Given the description of an element on the screen output the (x, y) to click on. 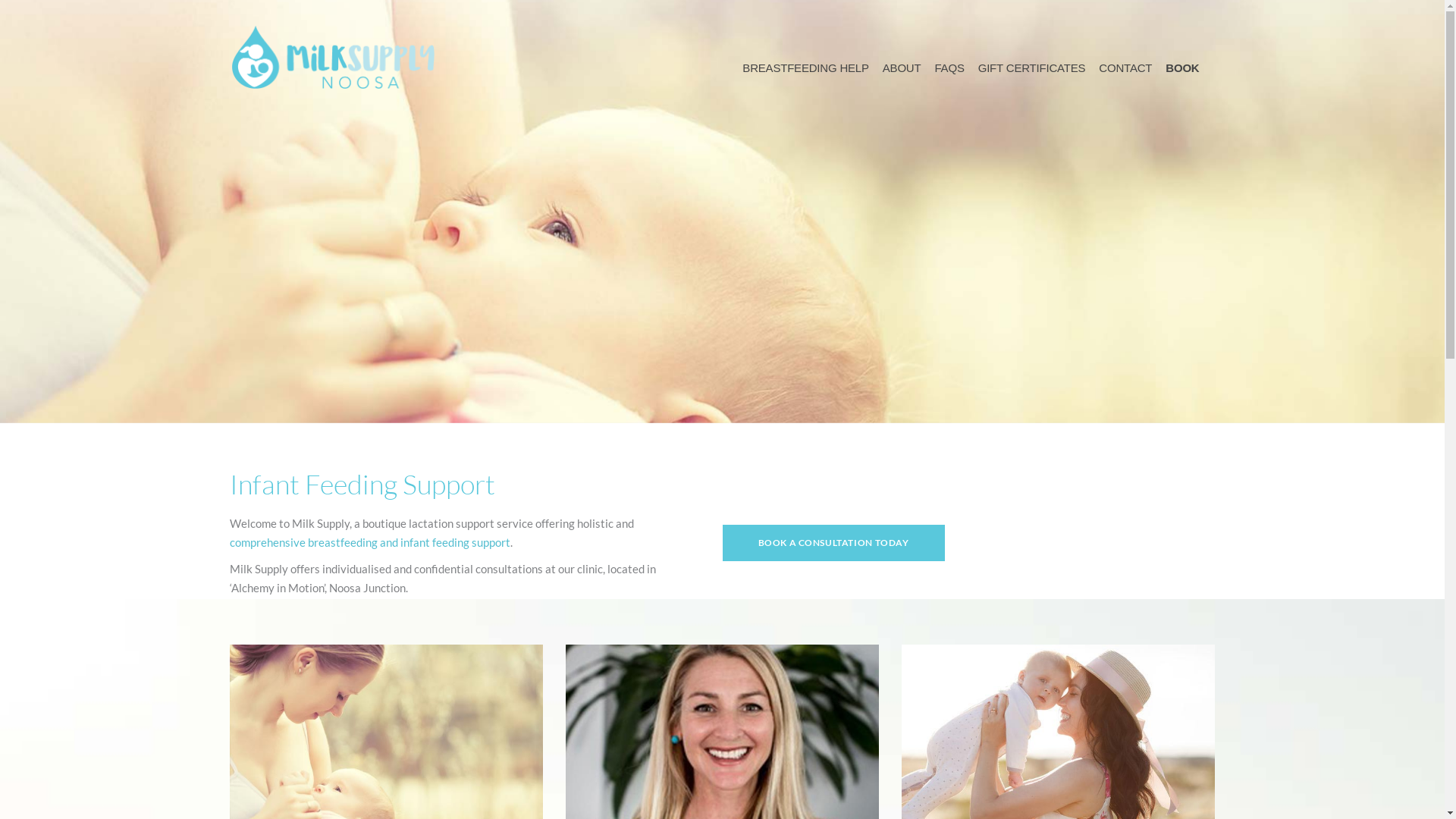
BREASTFEEDING HELP Element type: text (805, 68)
CONTACT Element type: text (1125, 68)
FAQS Element type: text (948, 68)
BOOK A CONSULTATION TODAY Element type: text (832, 542)
BOOK Element type: text (1181, 68)
comprehensive breastfeeding and infant feeding support Element type: text (369, 542)
GIFT CERTIFICATES Element type: text (1031, 68)
U Element type: text (1069, 402)
ABOUT Element type: text (901, 68)
